Given the description of an element on the screen output the (x, y) to click on. 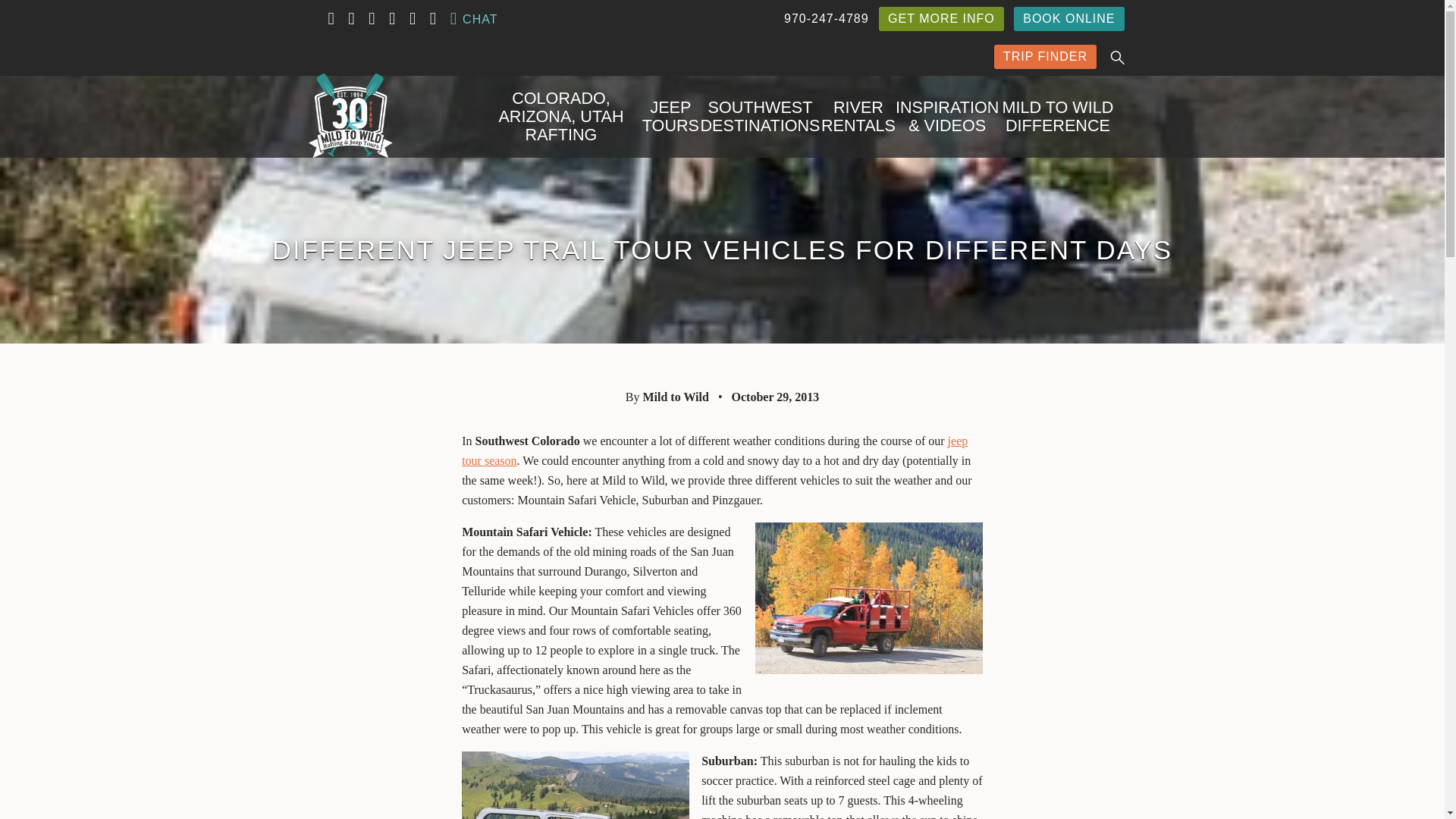
GET MORE INFO (941, 18)
Colorado, Arizona, Utah Rafting (561, 117)
CHAT (473, 18)
BOOK ONLINE (1068, 18)
COLORADO, ARIZONA, UTAH RAFTING (561, 117)
TRIP FINDER (1045, 56)
